Given the description of an element on the screen output the (x, y) to click on. 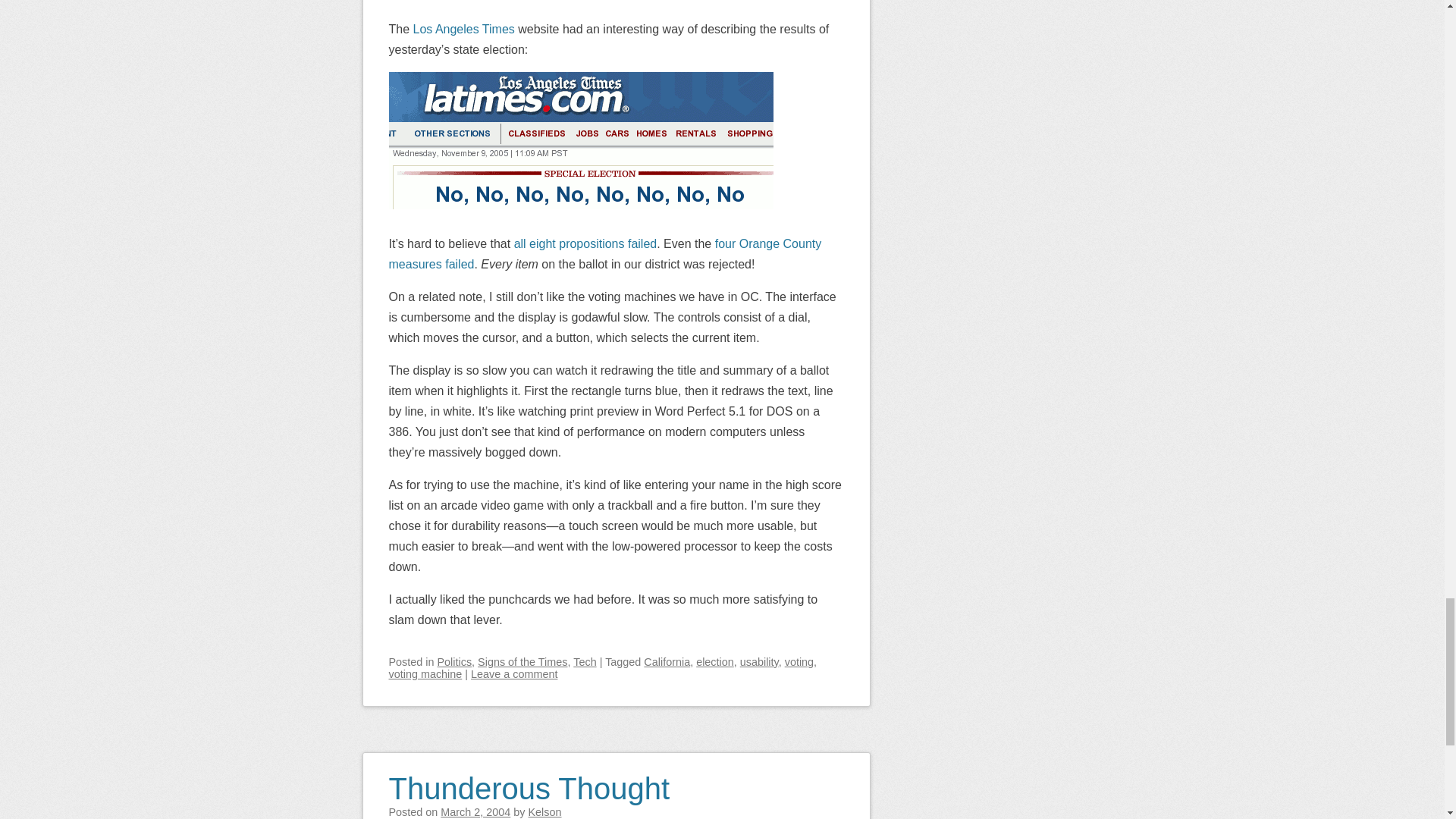
Permalink to Thunderous Thought (528, 778)
Los Angeles Times (464, 29)
View all posts by Kelson (545, 811)
4:46 PM (476, 811)
